Given the description of an element on the screen output the (x, y) to click on. 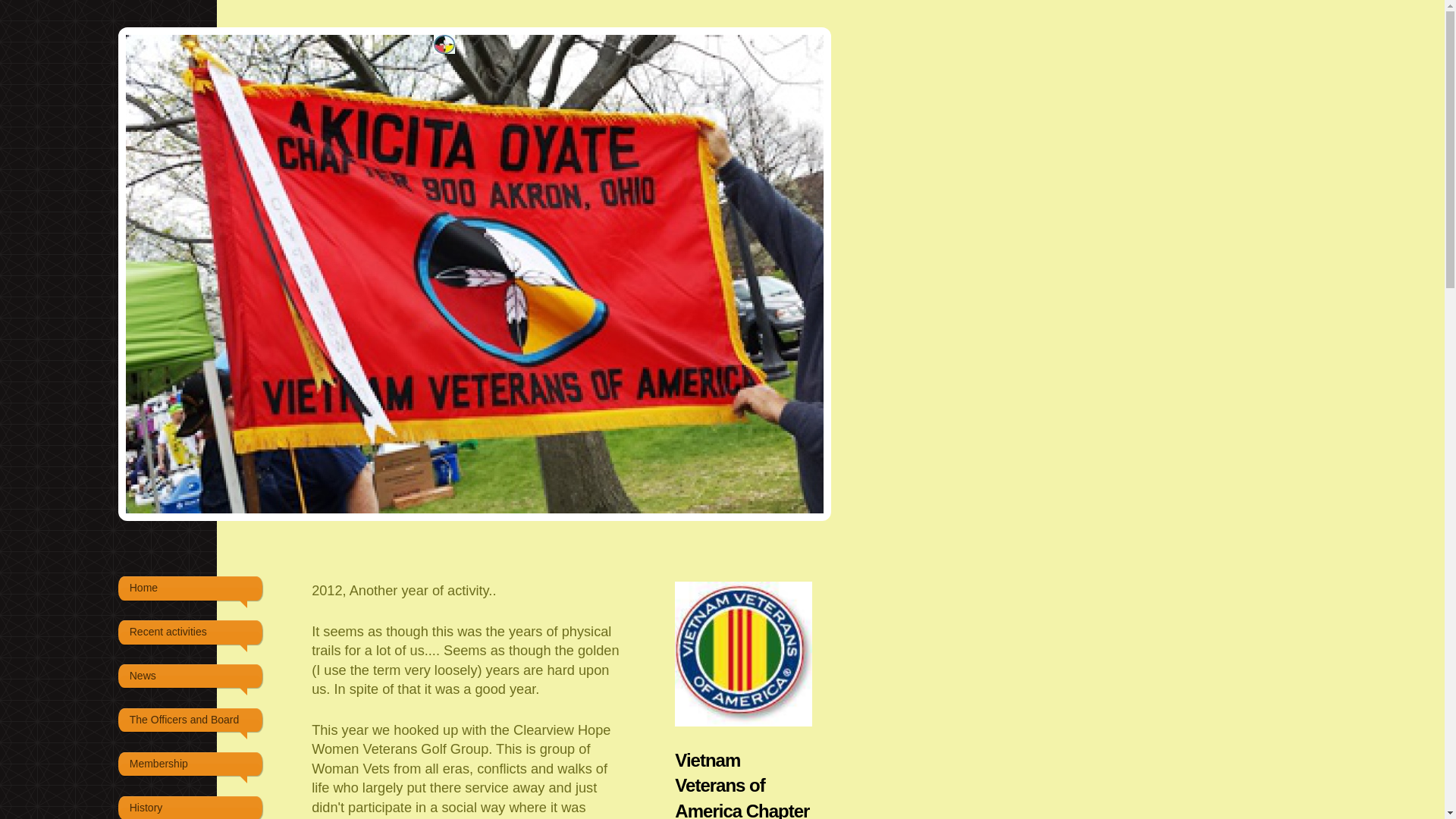
Home (189, 588)
Recent activities (189, 631)
News (189, 676)
